Given the description of an element on the screen output the (x, y) to click on. 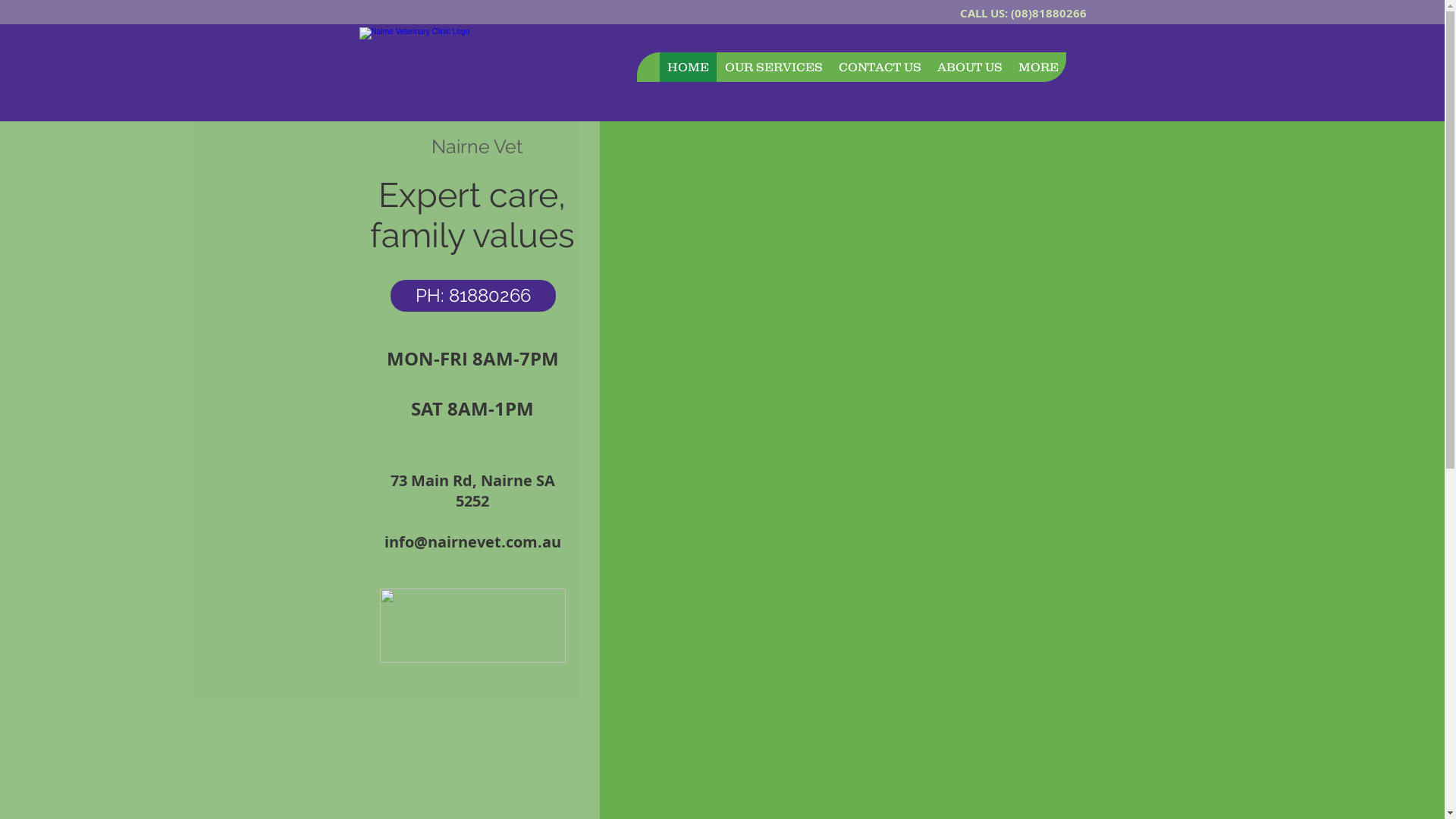
OUR SERVICES Element type: text (772, 66)
CONTACT US Element type: text (878, 66)
info@nairnevet.com.au Element type: text (471, 541)
ABOUT US Element type: text (968, 66)
PH: 81880266 Element type: text (472, 295)
HOME Element type: text (686, 66)
Cat Dog Vet Logo Element type: hover (465, 66)
